Given the description of an element on the screen output the (x, y) to click on. 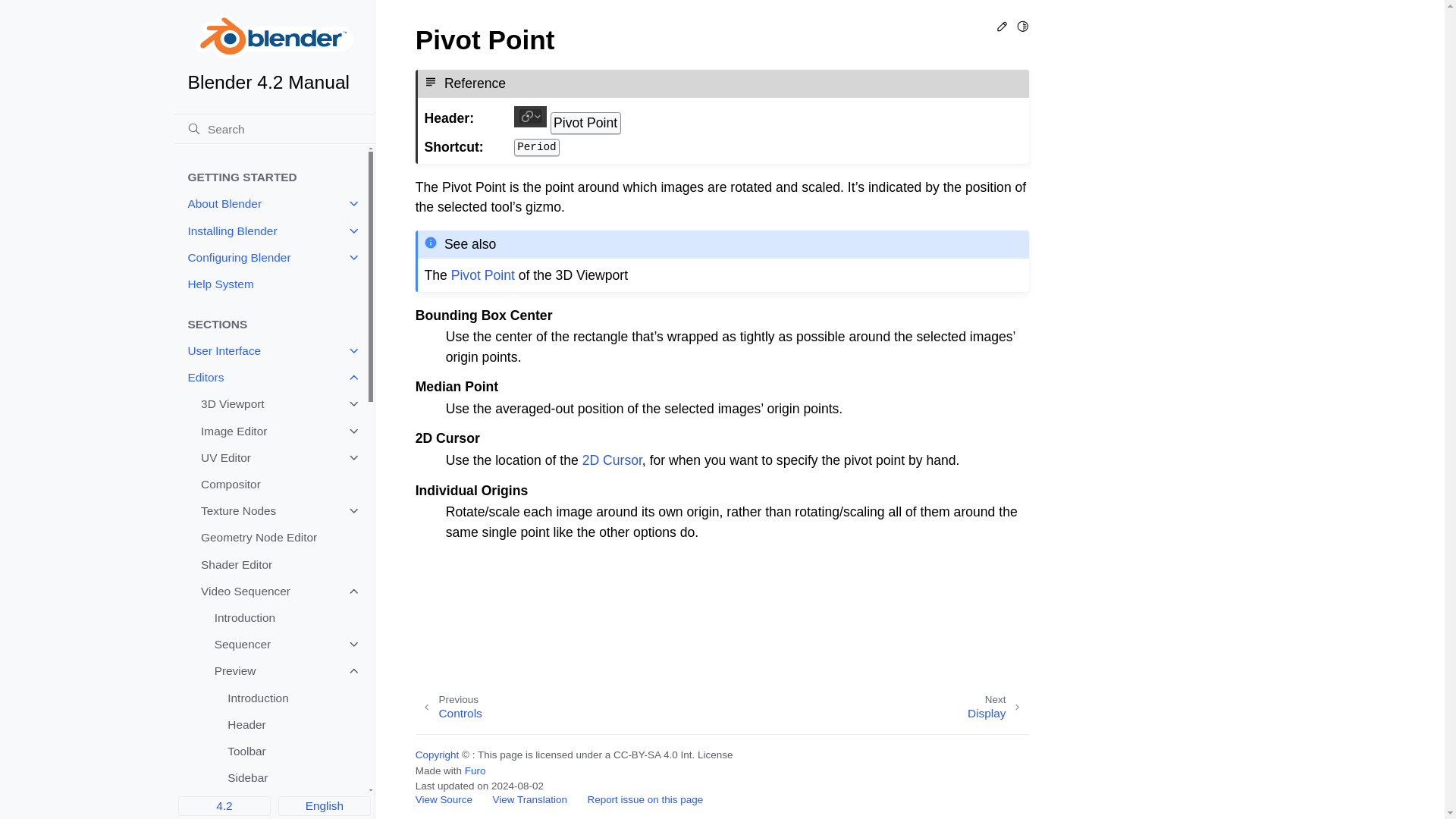
Edit this page (1002, 28)
User Interface (270, 350)
Installing Blender (270, 230)
Blender 4.2 Manual (274, 53)
Configuring Blender (270, 257)
Help System (270, 284)
About Blender (270, 203)
